Given the description of an element on the screen output the (x, y) to click on. 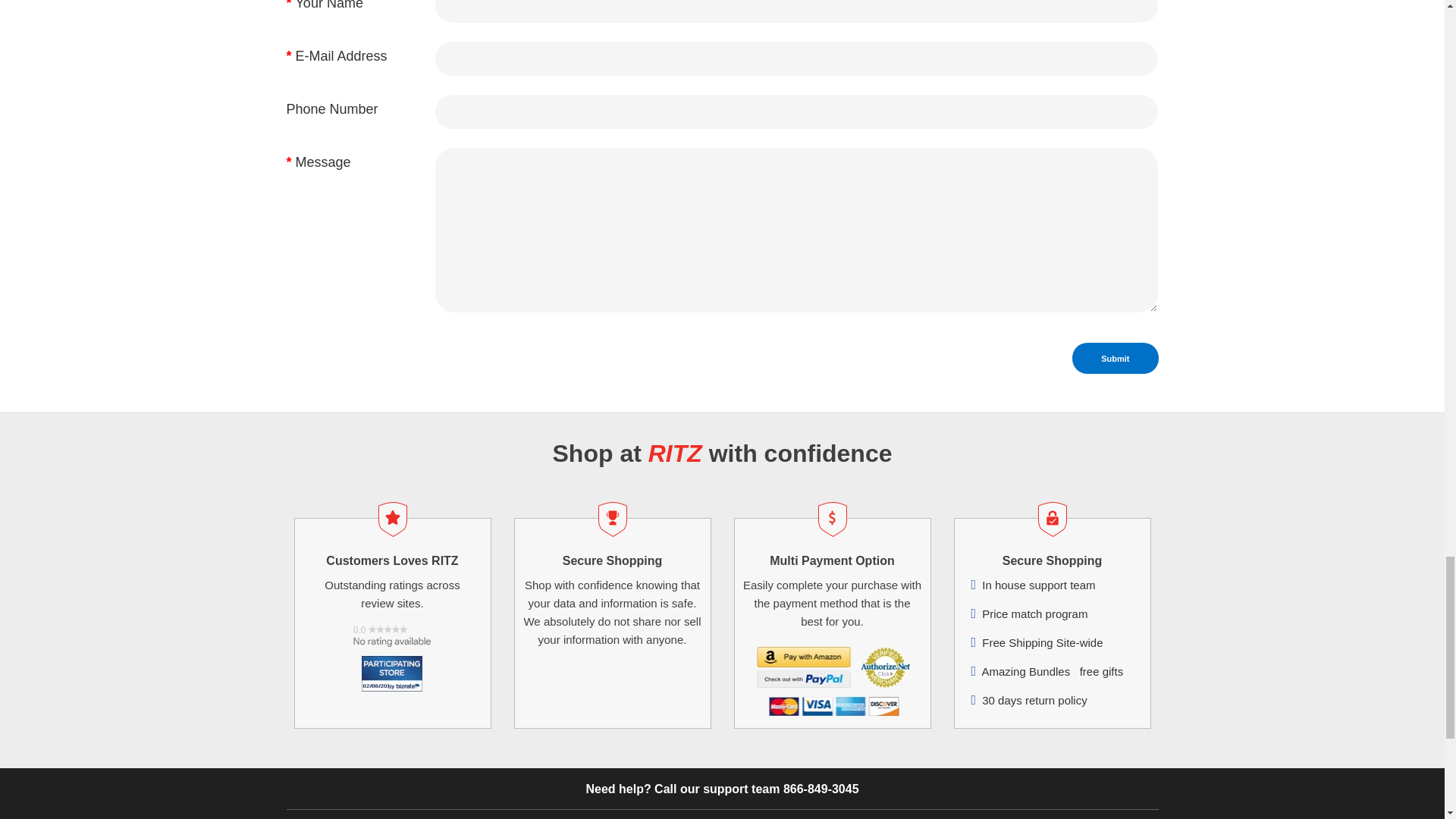
Submit (1114, 358)
